Given the description of an element on the screen output the (x, y) to click on. 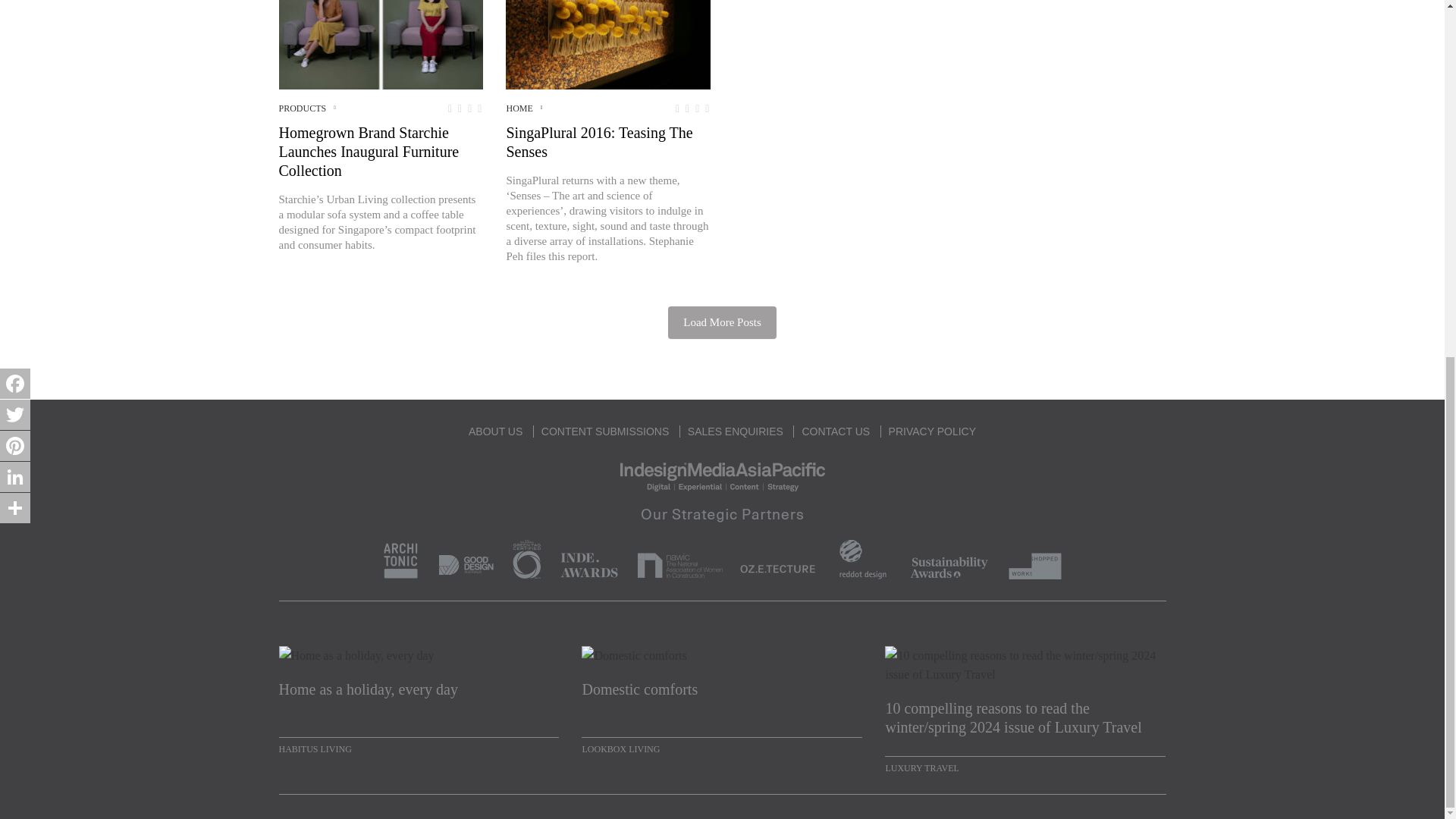
SingaPlural 2016: Teasing The Senses (607, 44)
Our Strategic Partners (722, 539)
Domestic comforts (720, 699)
Brought to you by Indesign Media Asia Pacific (721, 475)
Home as a holiday, every day (419, 699)
